Given the description of an element on the screen output the (x, y) to click on. 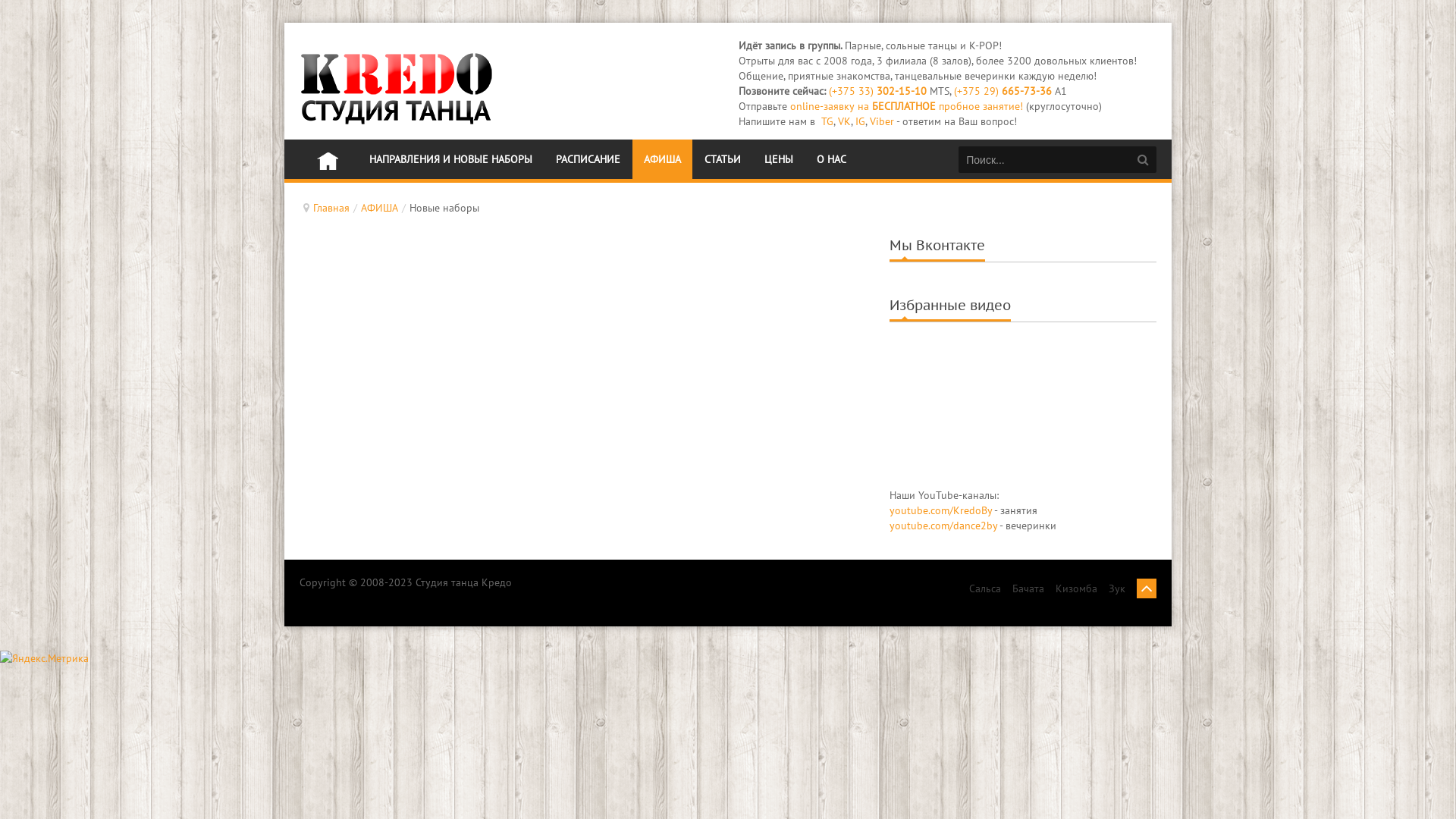
VK Element type: text (843, 121)
(+375 33) 302-15-10 Element type: text (877, 90)
youtube.com/KredoBy  Element type: text (941, 510)
  Element type: text (328, 158)
Viber Element type: text (881, 121)
youtube.com/dance2by Element type: text (943, 525)
IG Element type: text (860, 121)
Goto Top Element type: hover (1146, 586)
TG Element type: text (827, 121)
(+375 29) 665-73-36 Element type: text (1002, 90)
